Given the description of an element on the screen output the (x, y) to click on. 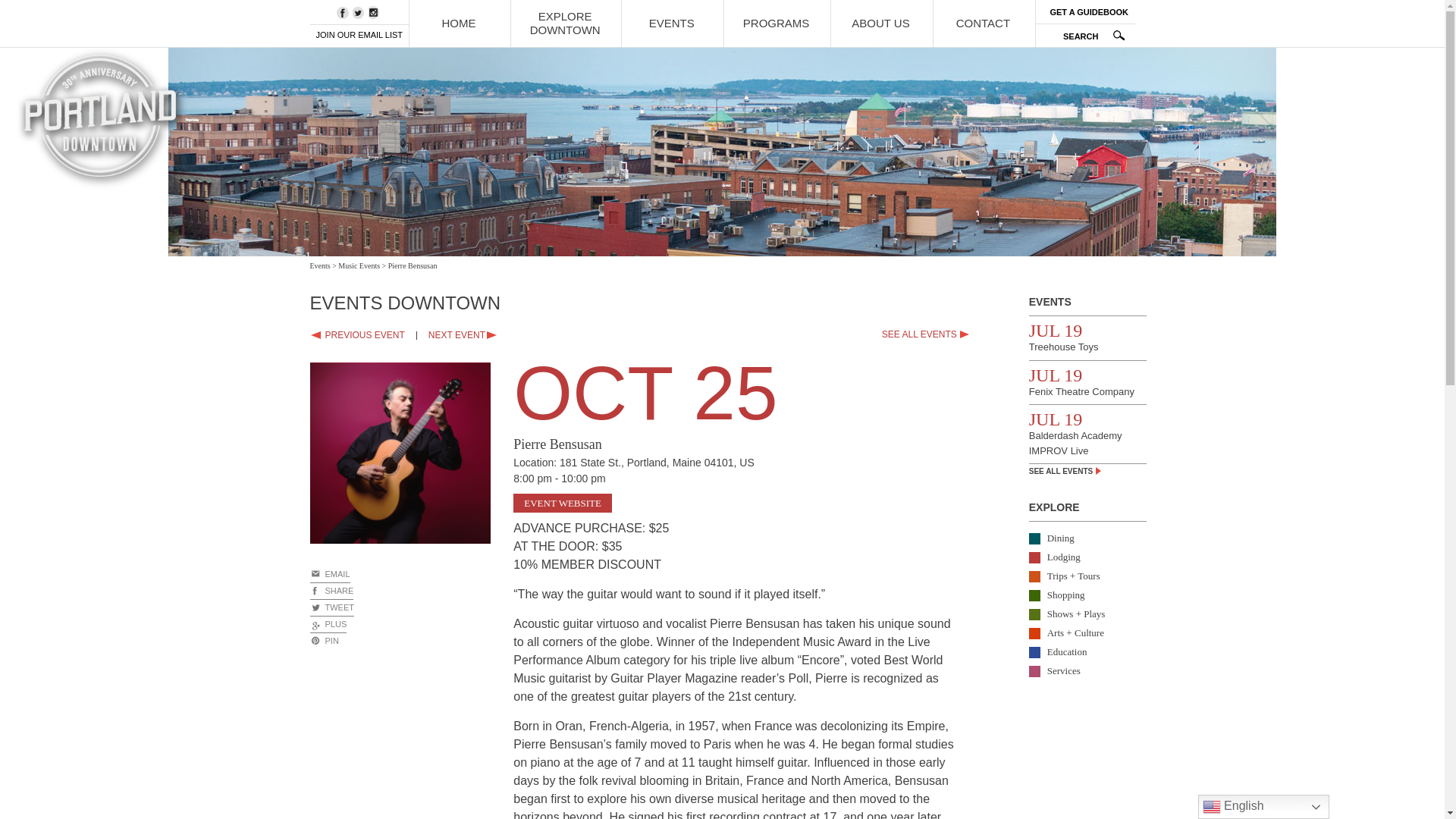
Directory (1089, 11)
EXPLORE DOWNTOWN (564, 23)
Email (328, 574)
Facebook (330, 591)
instagram (374, 11)
Search (1089, 36)
Email (322, 641)
twitter (358, 11)
Go to the Music Events Event Category archives. (358, 265)
Go to Events. (319, 265)
Plus (327, 624)
HOME (458, 23)
JOIN OUR EMAIL LIST (358, 32)
Twitter (330, 607)
Event website (562, 503)
